Given the description of an element on the screen output the (x, y) to click on. 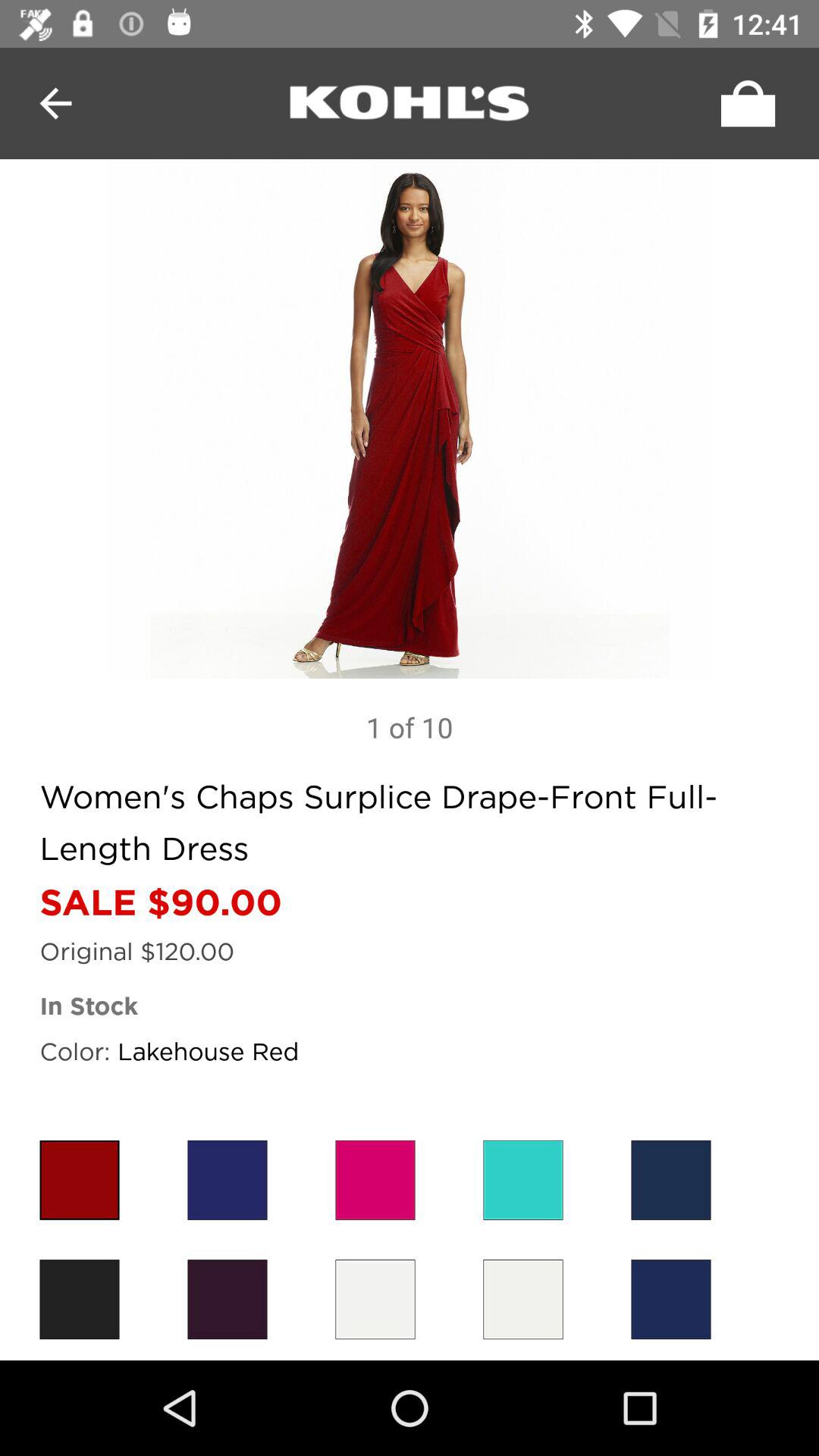
view in pink (375, 1179)
